Given the description of an element on the screen output the (x, y) to click on. 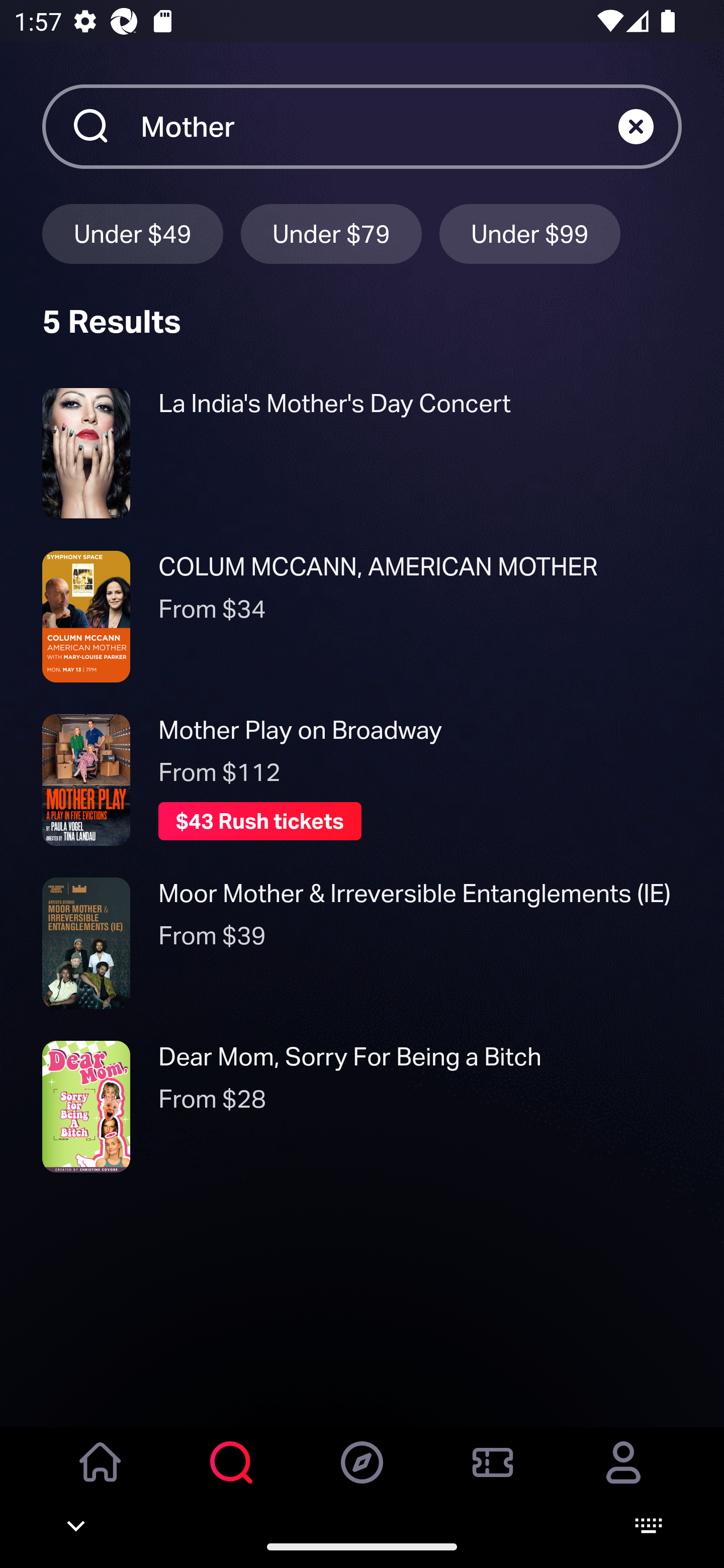
Mother (379, 126)
Under $49 (131, 233)
Under $79 (331, 233)
Under $99 (529, 233)
Home (100, 1475)
Discover (361, 1475)
Orders (492, 1475)
Account (623, 1475)
